Given the description of an element on the screen output the (x, y) to click on. 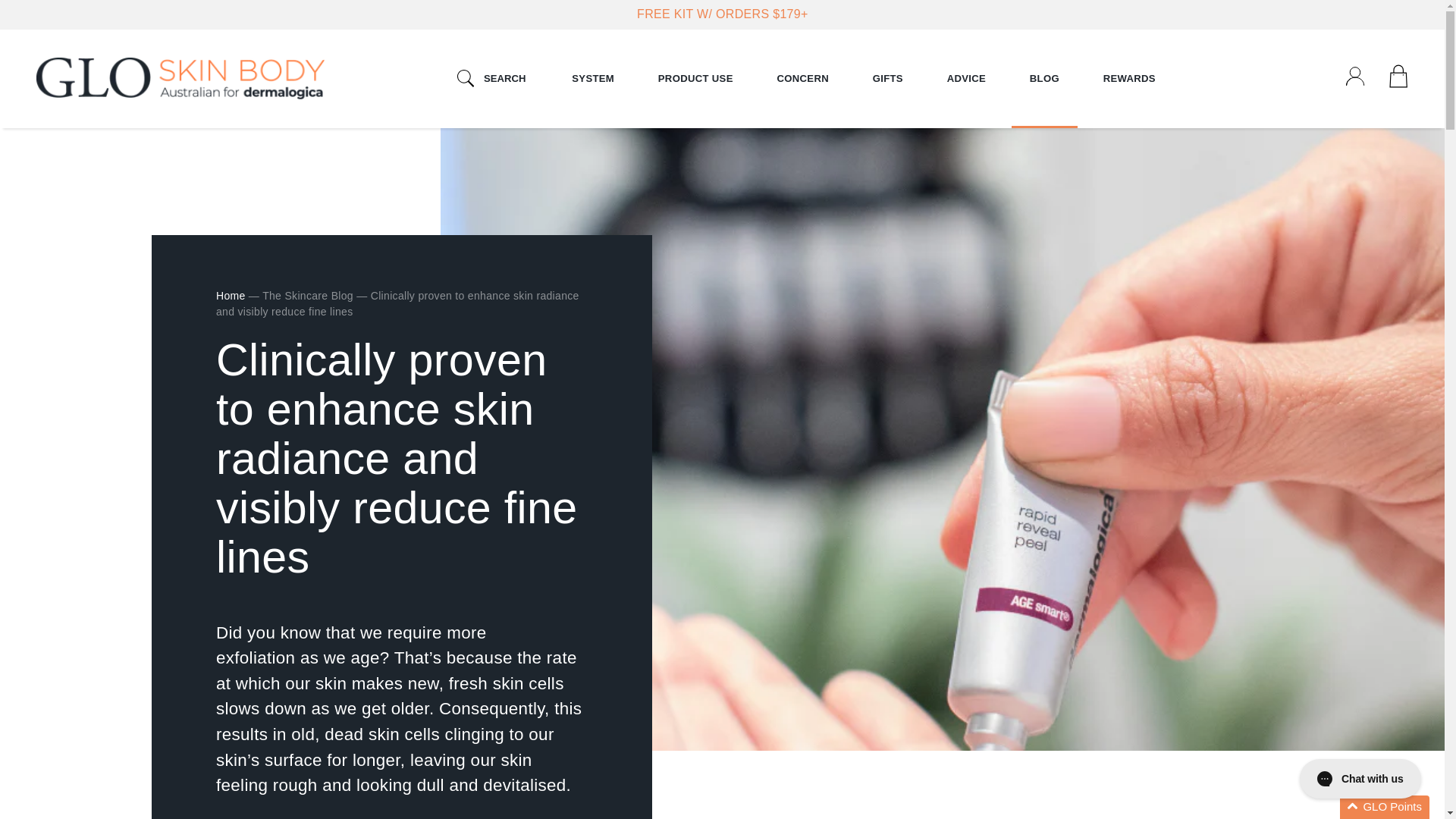
System (593, 78)
SYSTEM (593, 78)
Home (180, 78)
PRODUCT USE (695, 78)
SEARCH (491, 78)
